Given the description of an element on the screen output the (x, y) to click on. 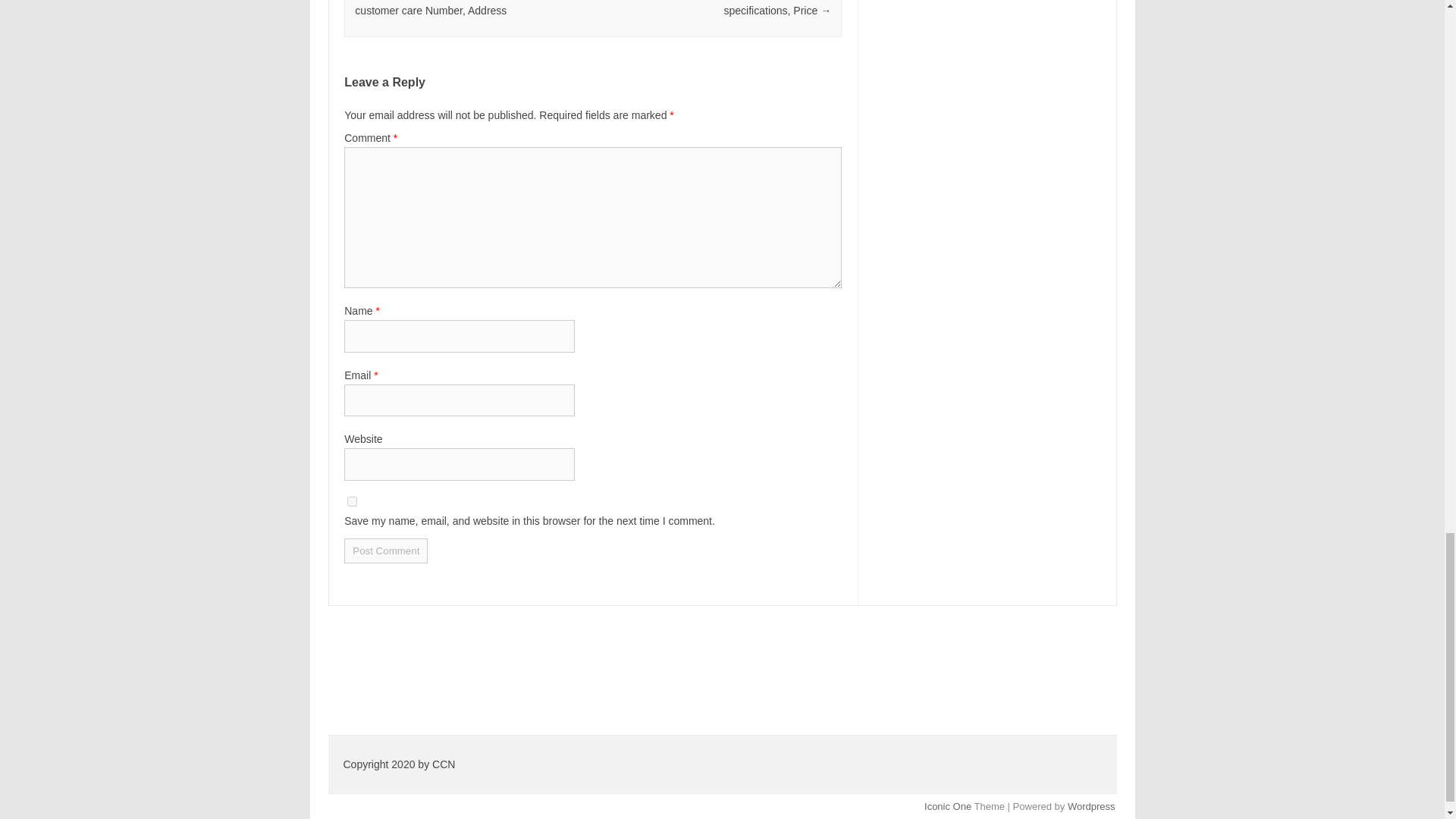
Advertisement (721, 708)
Post Comment (385, 550)
yes (351, 501)
Post Comment (385, 550)
Advertisement (721, 647)
